Given the description of an element on the screen output the (x, y) to click on. 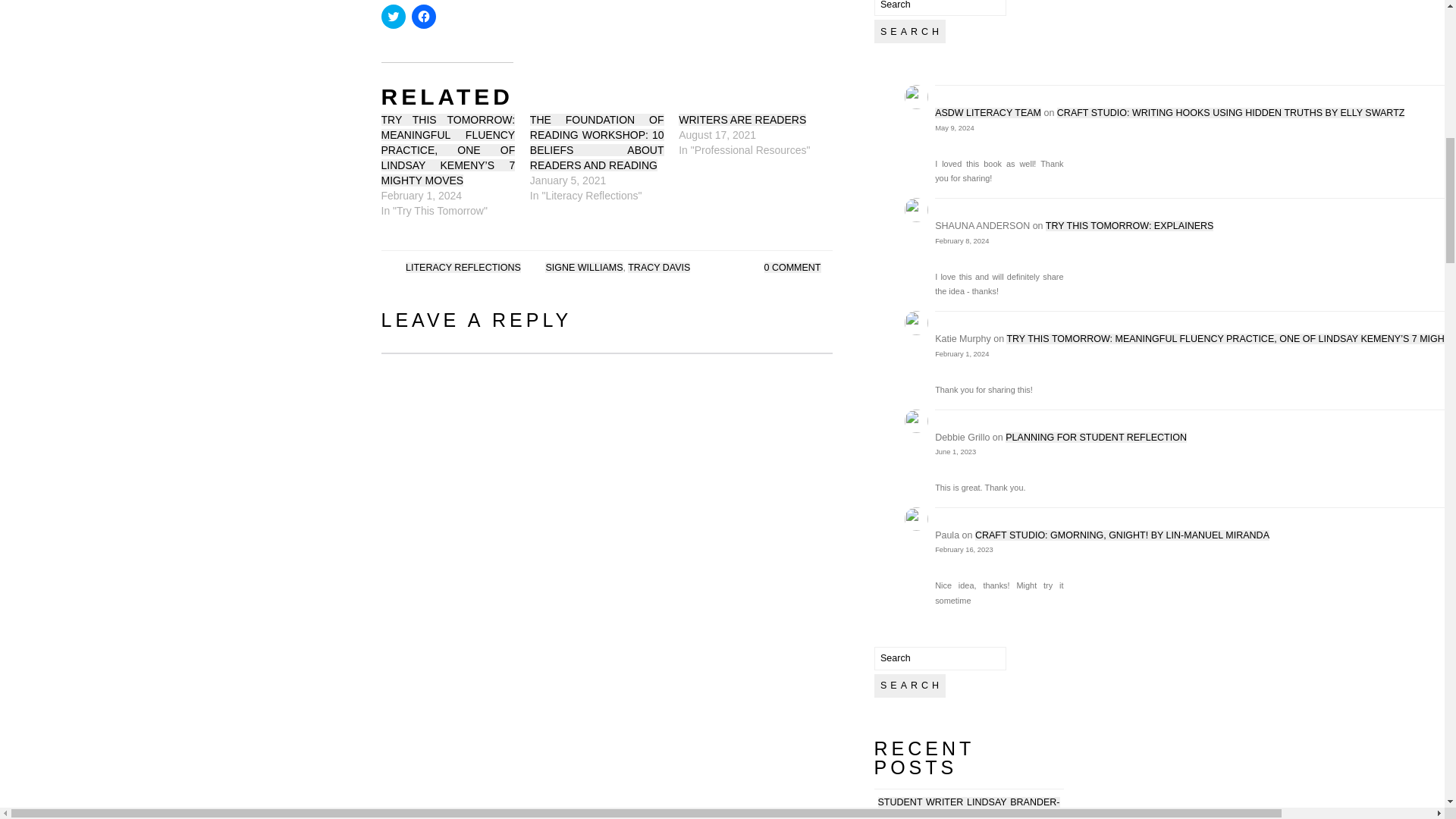
CRAFT STUDIO: GMORNING, GNIGHT! BY LIN-MANUEL MIRANDA (1122, 534)
SIGNE WILLIAMS (583, 267)
PLANNING FOR STUDENT REFLECTION (1096, 437)
Search (908, 685)
0 COMMENT (792, 267)
Search (908, 685)
ASDW LITERACY TEAM (987, 112)
TRACY DAVIS (658, 267)
TRY THIS TOMORROW: EXPLAINERS (1129, 225)
